Given the description of an element on the screen output the (x, y) to click on. 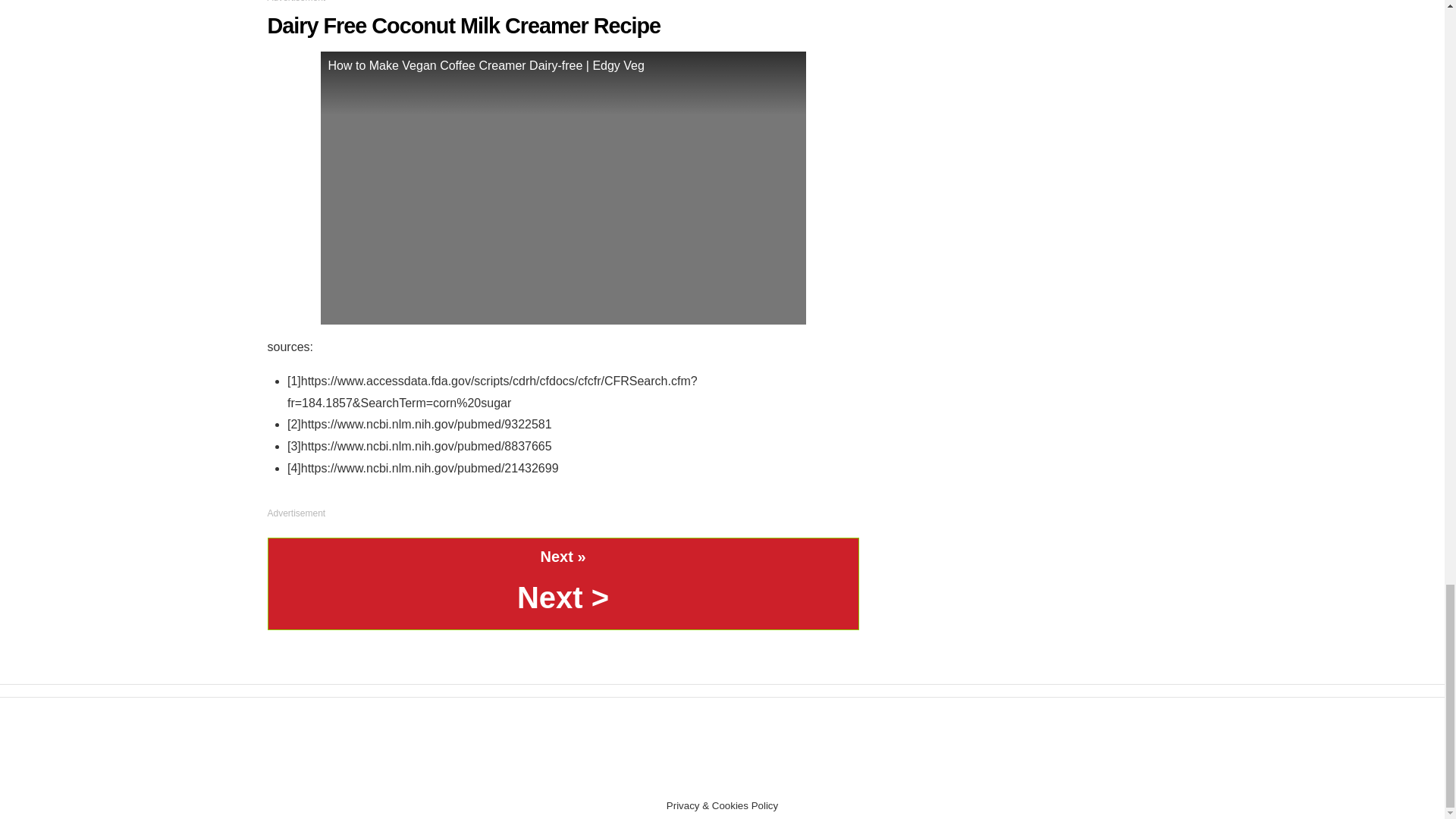
ABOUT (802, 775)
CONTACT (753, 775)
SPONSOR NEWSLETTER (882, 775)
TERMS (653, 775)
PRIVACY (699, 775)
